Given the description of an element on the screen output the (x, y) to click on. 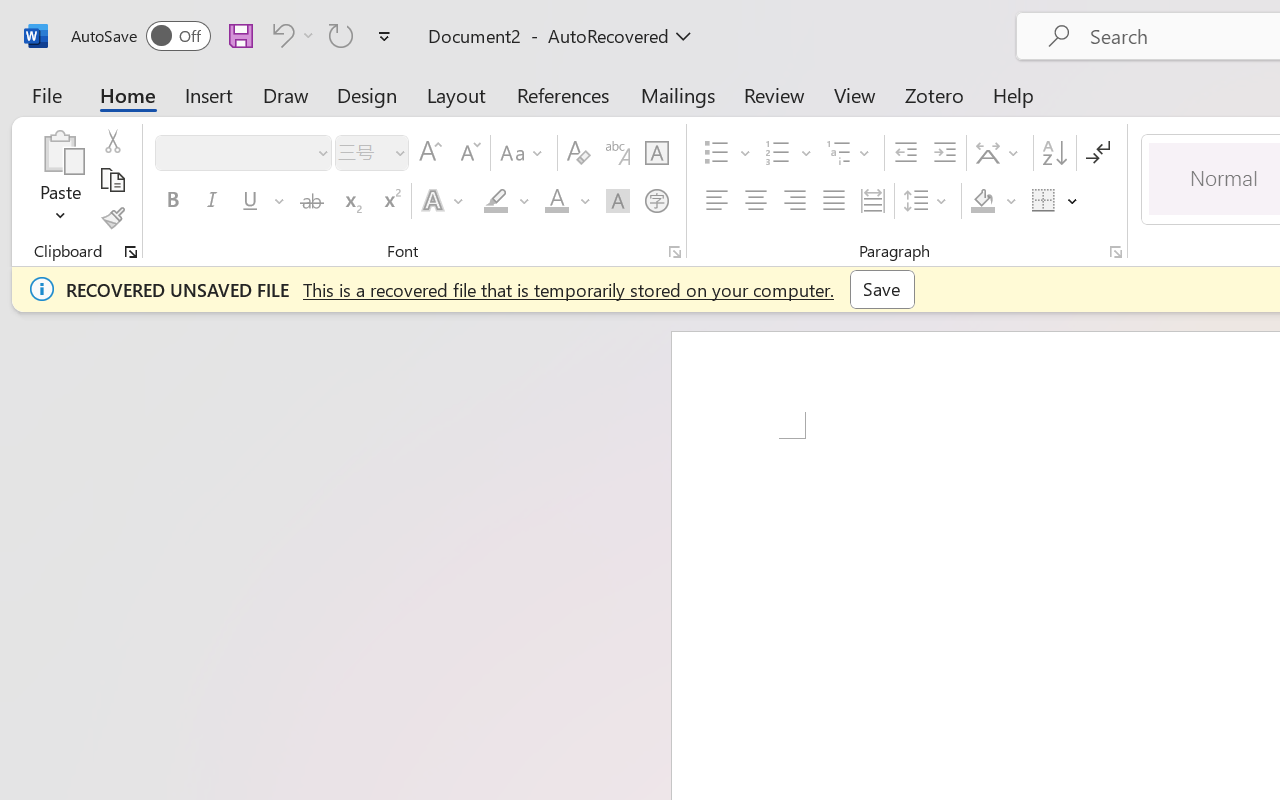
Can't Undo (280, 35)
Paragraph... (1115, 252)
Shading (993, 201)
Phonetic Guide... (618, 153)
Shrink Font (468, 153)
Character Shading (618, 201)
Increase Indent (944, 153)
Bold (172, 201)
Align Right (794, 201)
Line and Paragraph Spacing (927, 201)
Can't Undo (290, 35)
